Given the description of an element on the screen output the (x, y) to click on. 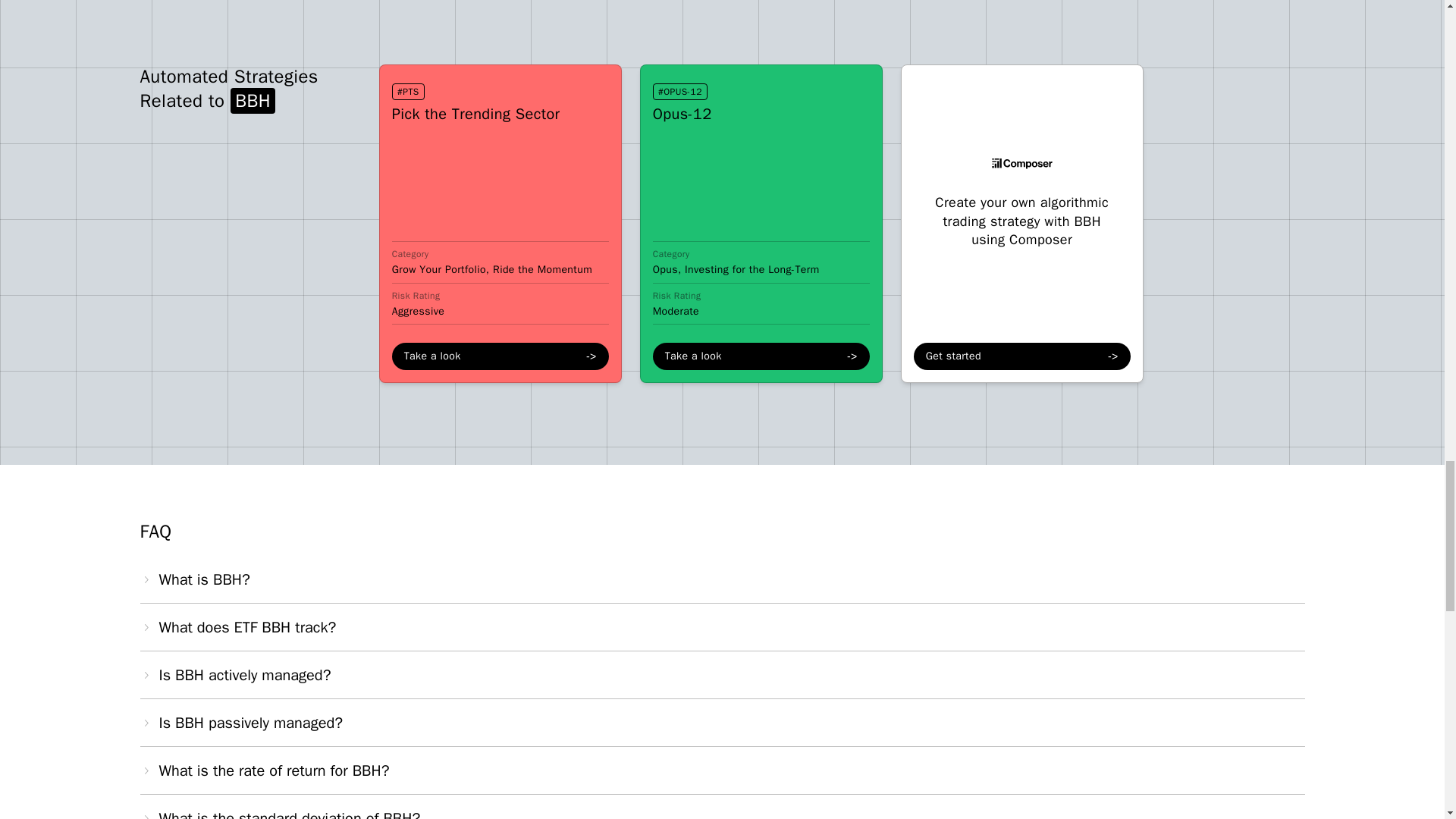
What does ETF BBH track? (237, 627)
Take a look (499, 356)
Take a look (760, 356)
Is BBH actively managed? (234, 675)
Get started (1022, 356)
What is BBH? (193, 579)
